Given the description of an element on the screen output the (x, y) to click on. 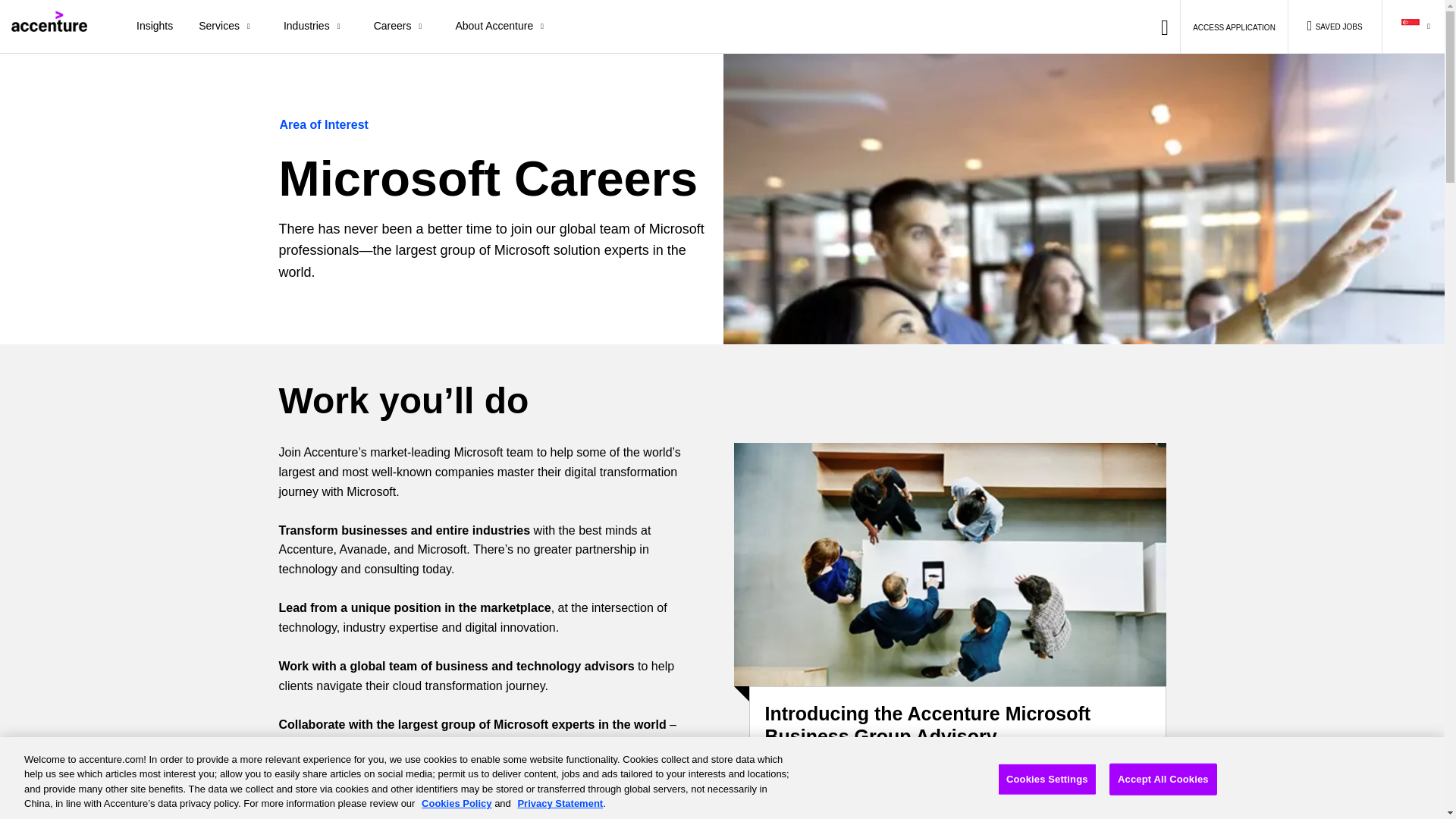
Insights (154, 26)
Services (228, 26)
Industries (315, 26)
